Given the description of an element on the screen output the (x, y) to click on. 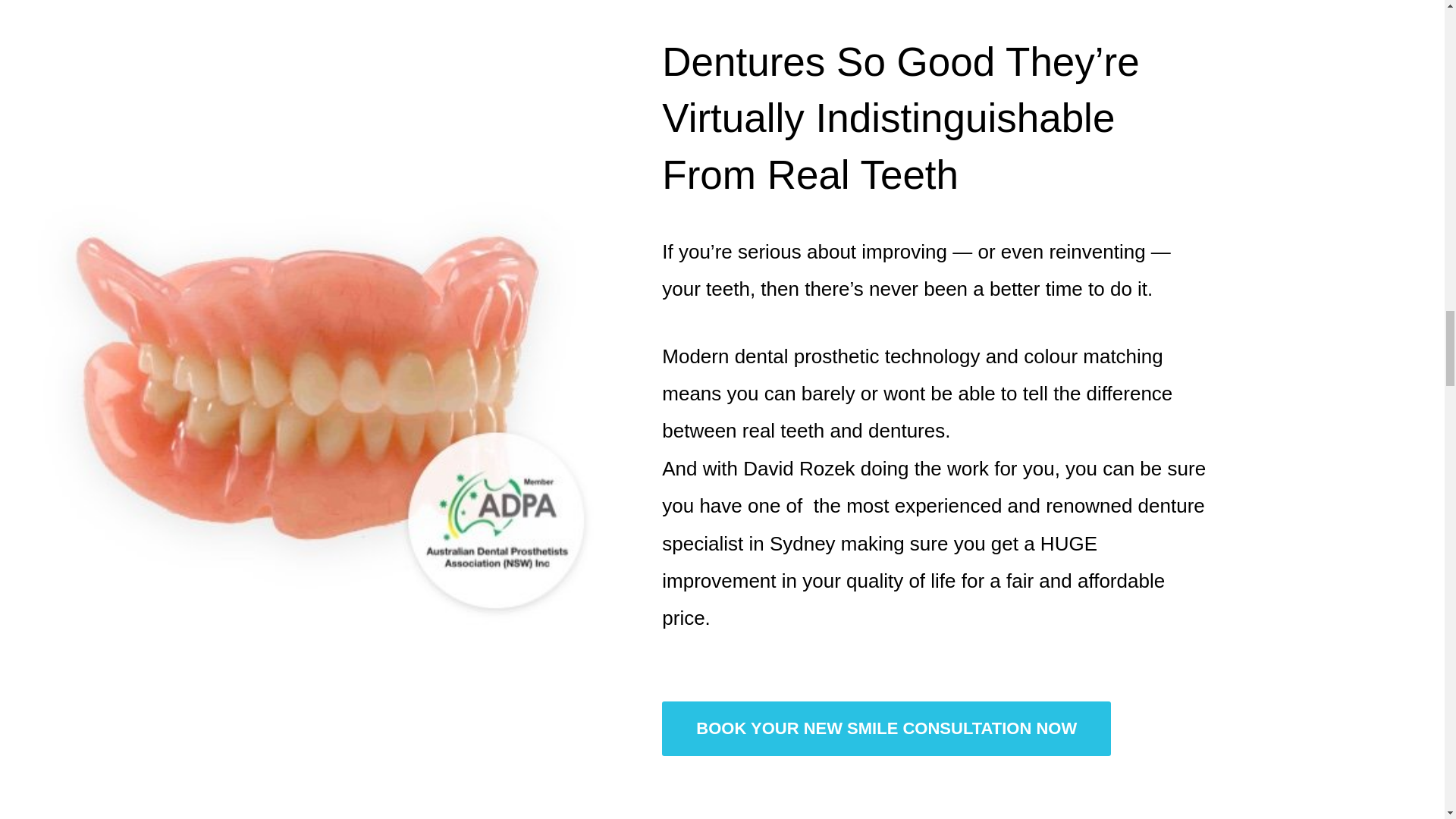
BOOK YOUR NEW SMILE CONSULTATION NOW (886, 728)
